Given the description of an element on the screen output the (x, y) to click on. 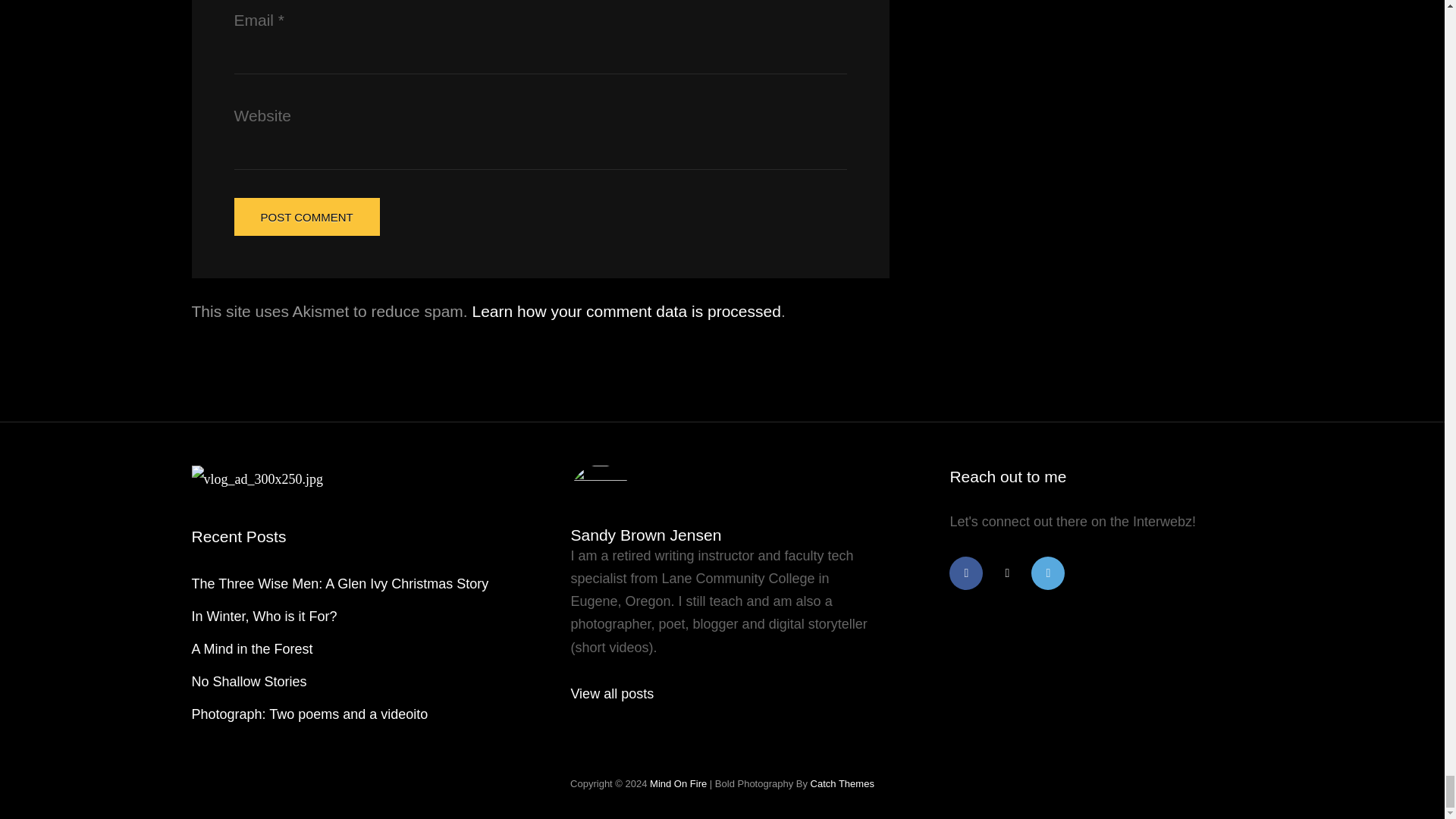
500px (1047, 572)
Facebook (965, 572)
Post Comment (305, 216)
Instagram (1006, 572)
